Given the description of an element on the screen output the (x, y) to click on. 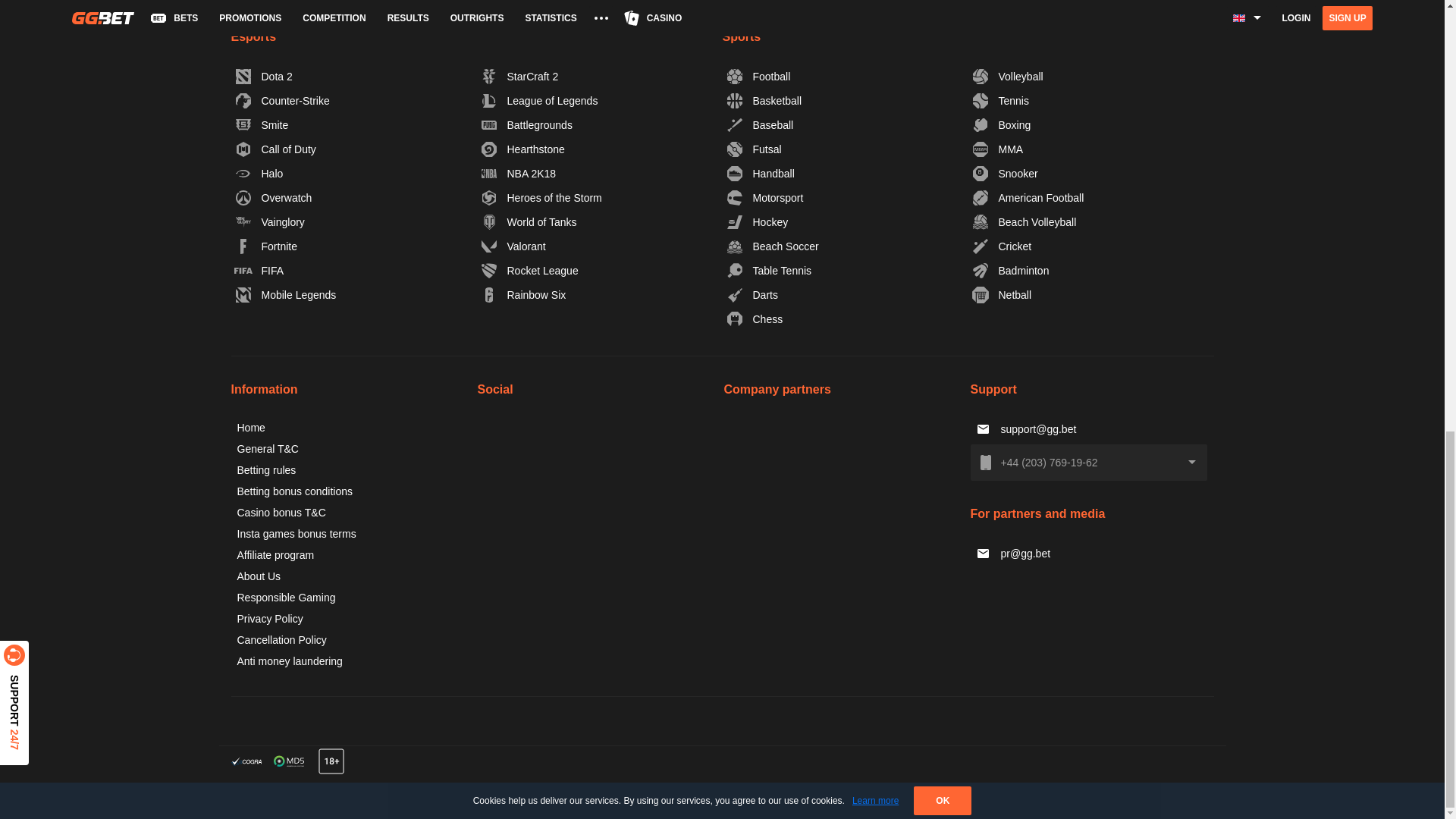
Smite (262, 125)
Overwatch (273, 197)
League of Legends (540, 100)
Battlegrounds (527, 125)
Dota 2 (264, 76)
Basketball (765, 100)
Rainbow Six (524, 294)
Vainglory (270, 221)
StarCraft 2 (520, 76)
Counter-Strike (282, 100)
Volleyball (1008, 76)
Heroes of the Storm (541, 197)
Rocket League (529, 270)
Football (759, 76)
Valorant (513, 246)
